Given the description of an element on the screen output the (x, y) to click on. 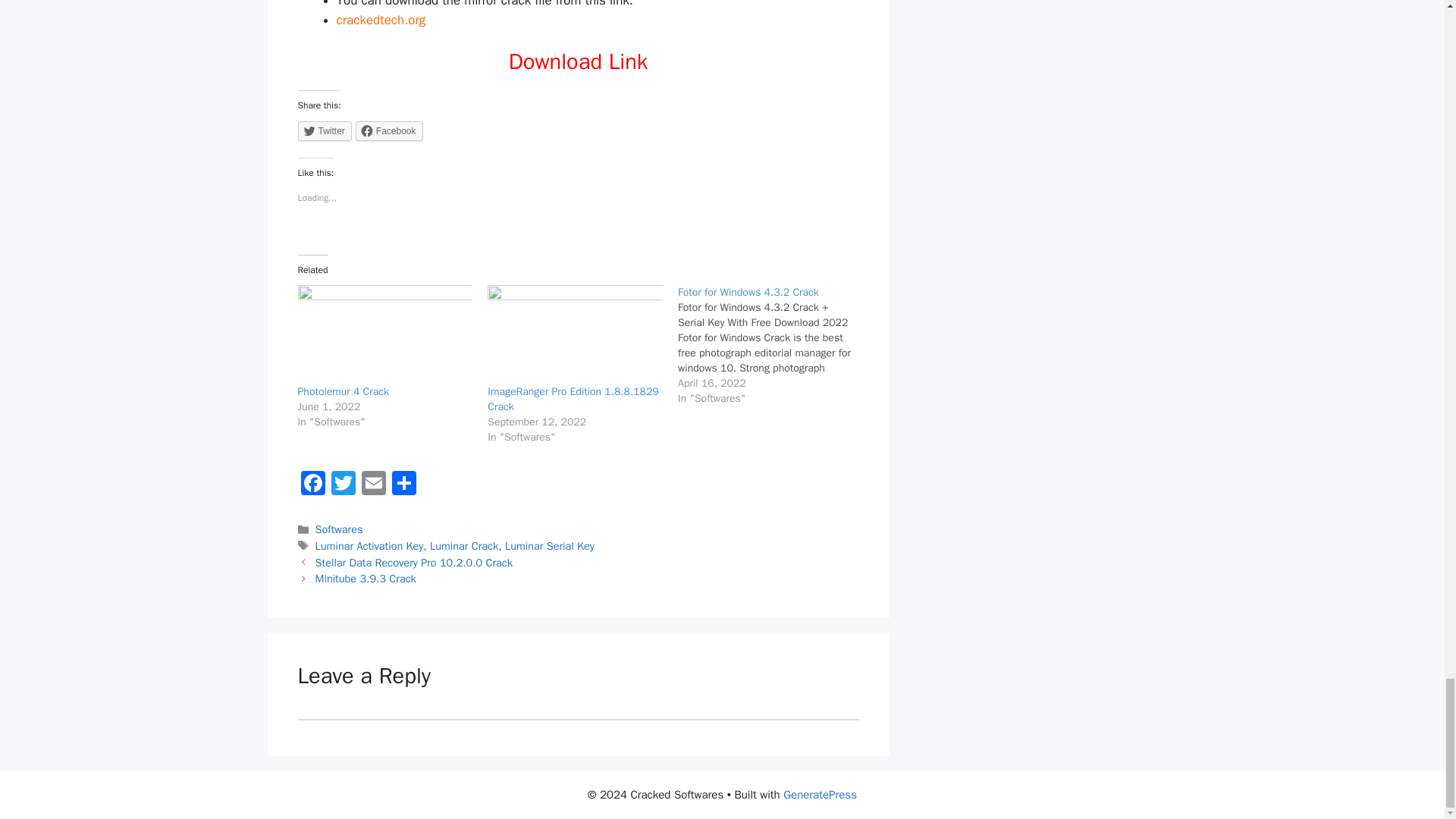
Twitter (342, 484)
Photolemur 4 Crack (384, 334)
Facebook (389, 130)
Facebook (312, 484)
Minitube 3.9.3 Crack (365, 578)
Click to share on Twitter (323, 130)
Luminar Serial Key (549, 545)
Photolemur 4 Crack (342, 391)
Photolemur 4 Crack (342, 391)
Softwares (338, 529)
Share (403, 484)
Twitter (342, 484)
ImageRanger Pro Edition 1.8.8.1829 Crack (572, 398)
Email (373, 484)
Download Link (577, 61)
